Given the description of an element on the screen output the (x, y) to click on. 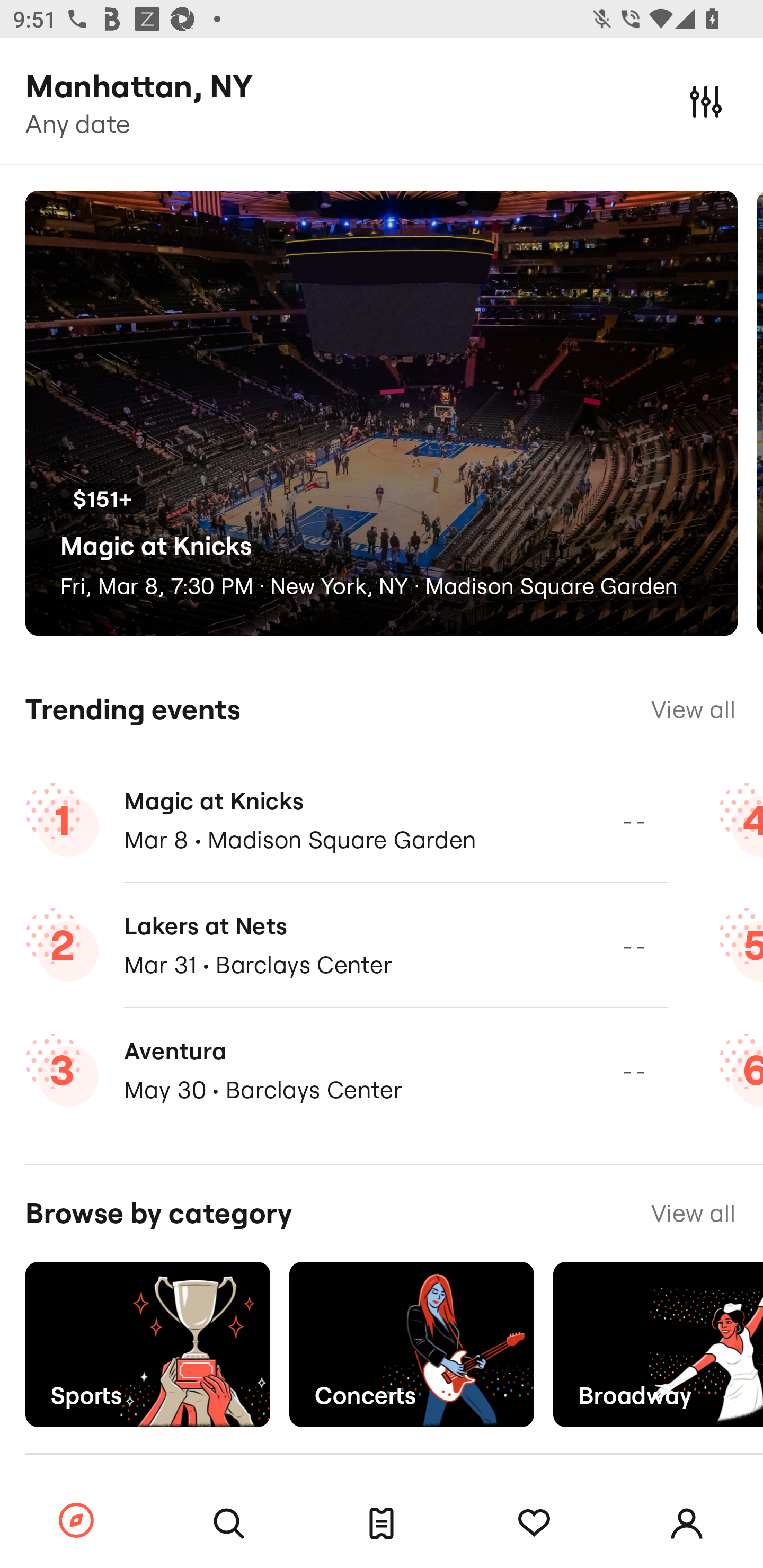
Filters (705, 100)
View all (693, 709)
View all (693, 1213)
Sports (147, 1344)
Concerts (411, 1344)
Broadway (658, 1344)
Browse (76, 1521)
Search (228, 1523)
Tickets (381, 1523)
Tracking (533, 1523)
Account (686, 1523)
